Given the description of an element on the screen output the (x, y) to click on. 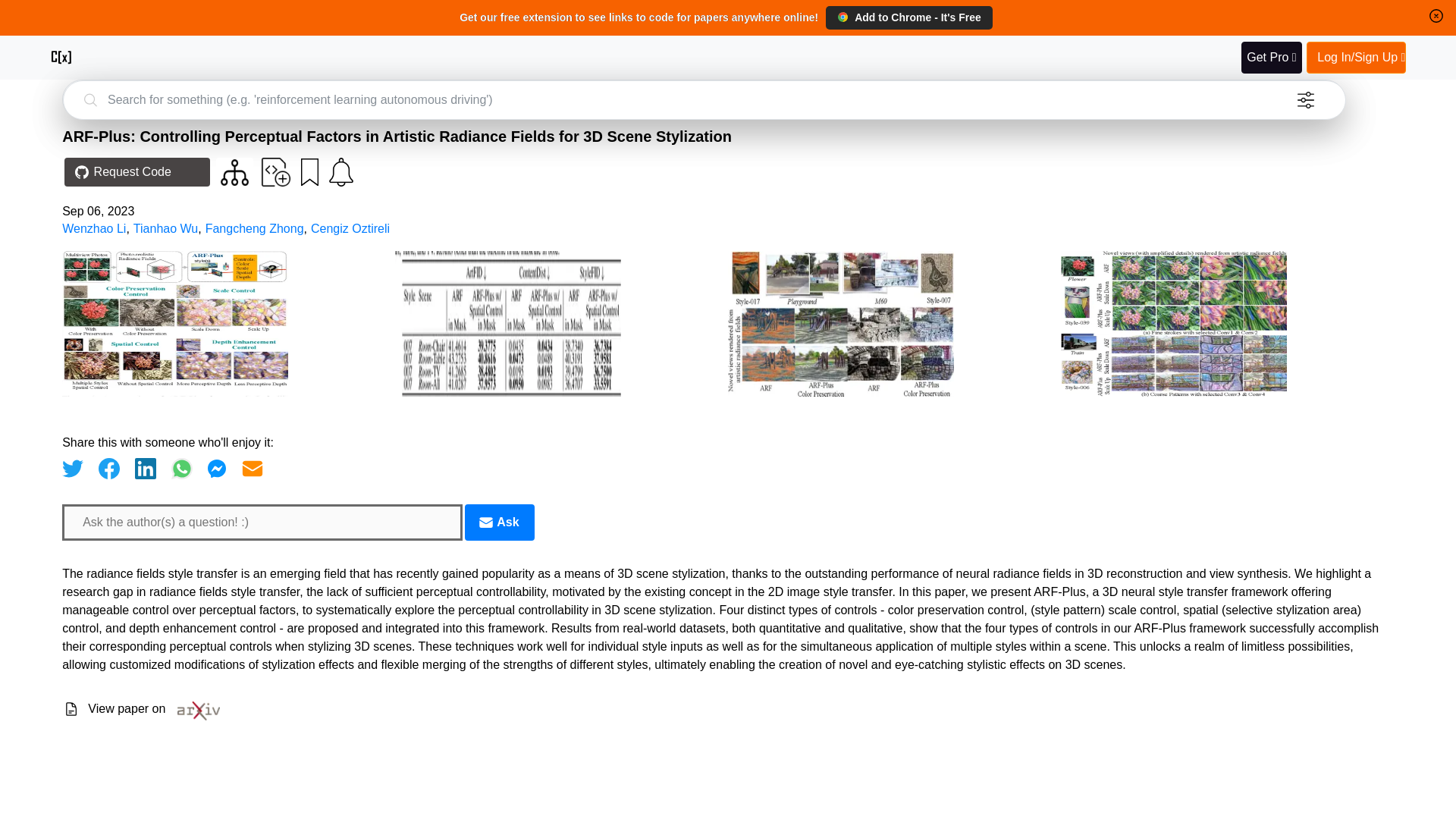
Request Code (136, 172)
View code for similar papers (234, 171)
Contribute your code for this paper to the community (275, 172)
Request Code (132, 173)
Share via Email (252, 468)
Add to Chrome - It's Free (908, 17)
Cengiz Oztireli (350, 228)
Email Icon Ask (499, 522)
Wenzhao Li (93, 228)
Ask any Qs from the author (499, 522)
Email Icon (486, 522)
Tianhao Wu (165, 228)
Fangcheng Zhong (254, 228)
